Given the description of an element on the screen output the (x, y) to click on. 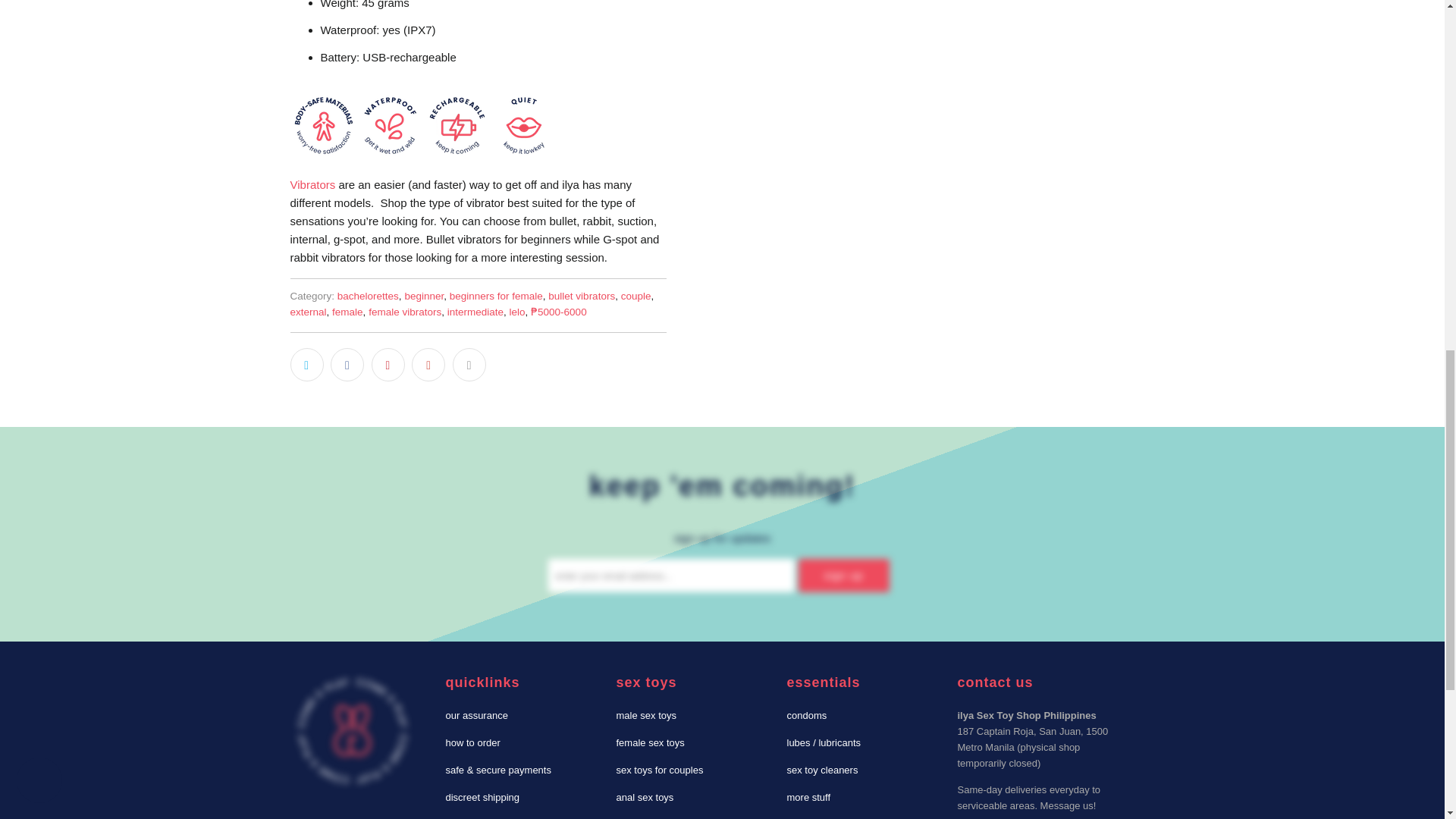
Products tagged bullet vibrators (581, 296)
Products tagged female vibrators (404, 311)
Share this on Twitter (306, 364)
Products tagged female (346, 311)
Products tagged couple (635, 296)
Products tagged intermediate (474, 311)
Products tagged bachelorettes (367, 296)
Products tagged lelo (517, 311)
Products tagged beginner (424, 296)
Sign Up (842, 575)
